Given the description of an element on the screen output the (x, y) to click on. 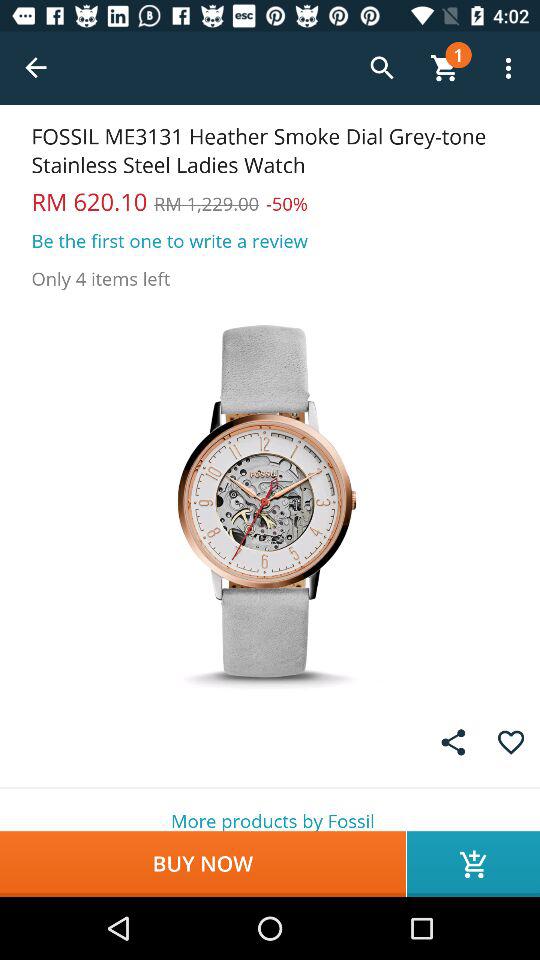
tag as favorite (510, 742)
